Given the description of an element on the screen output the (x, y) to click on. 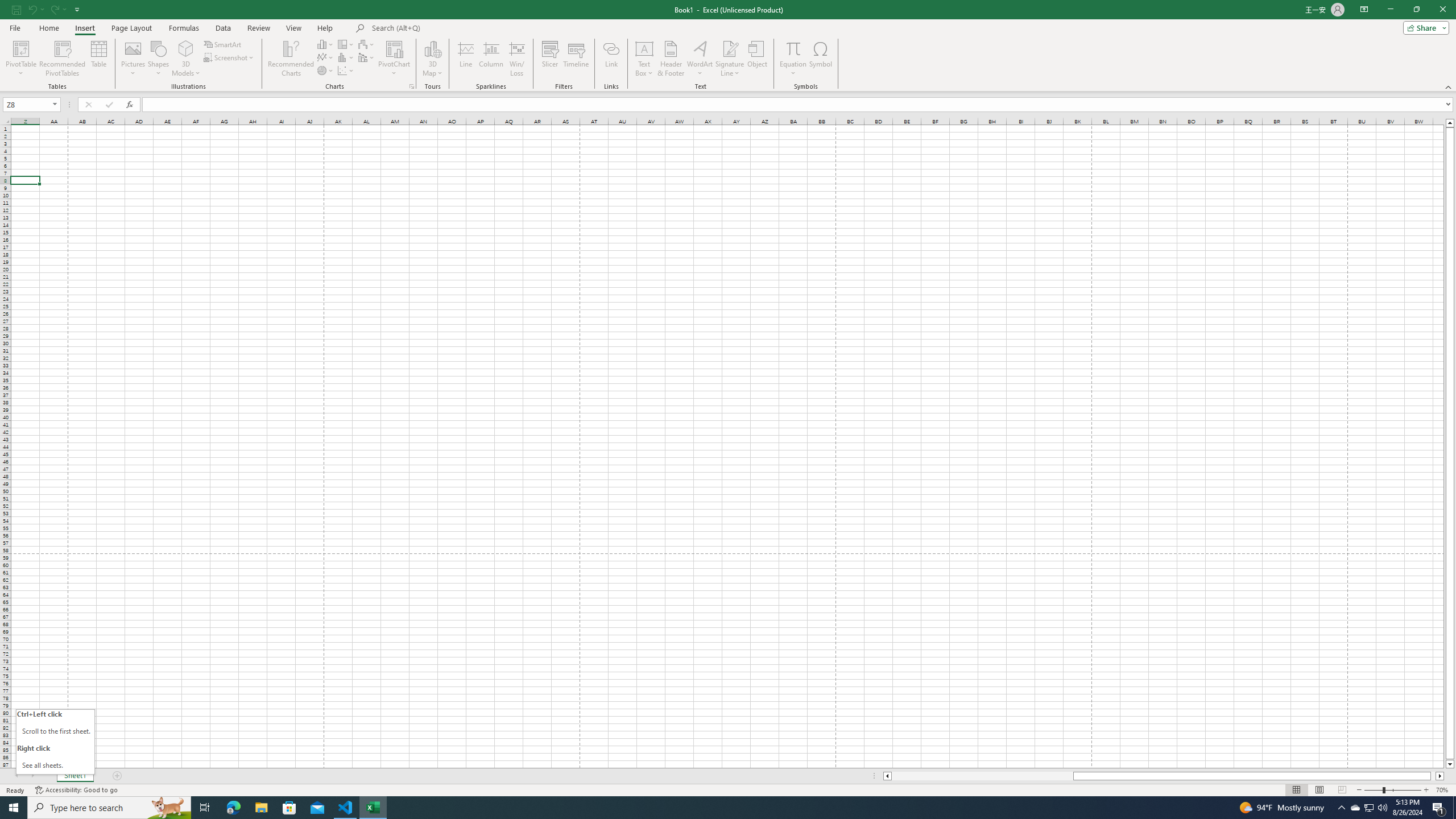
Header & Footer... (670, 58)
Timeline (575, 58)
Insert Pie or Doughnut Chart (325, 69)
PivotChart (394, 58)
3D Models (186, 48)
Insert Waterfall, Funnel, Stock, Surface, or Radar Chart (366, 44)
SmartArt... (223, 44)
Signature Line (729, 58)
